Given the description of an element on the screen output the (x, y) to click on. 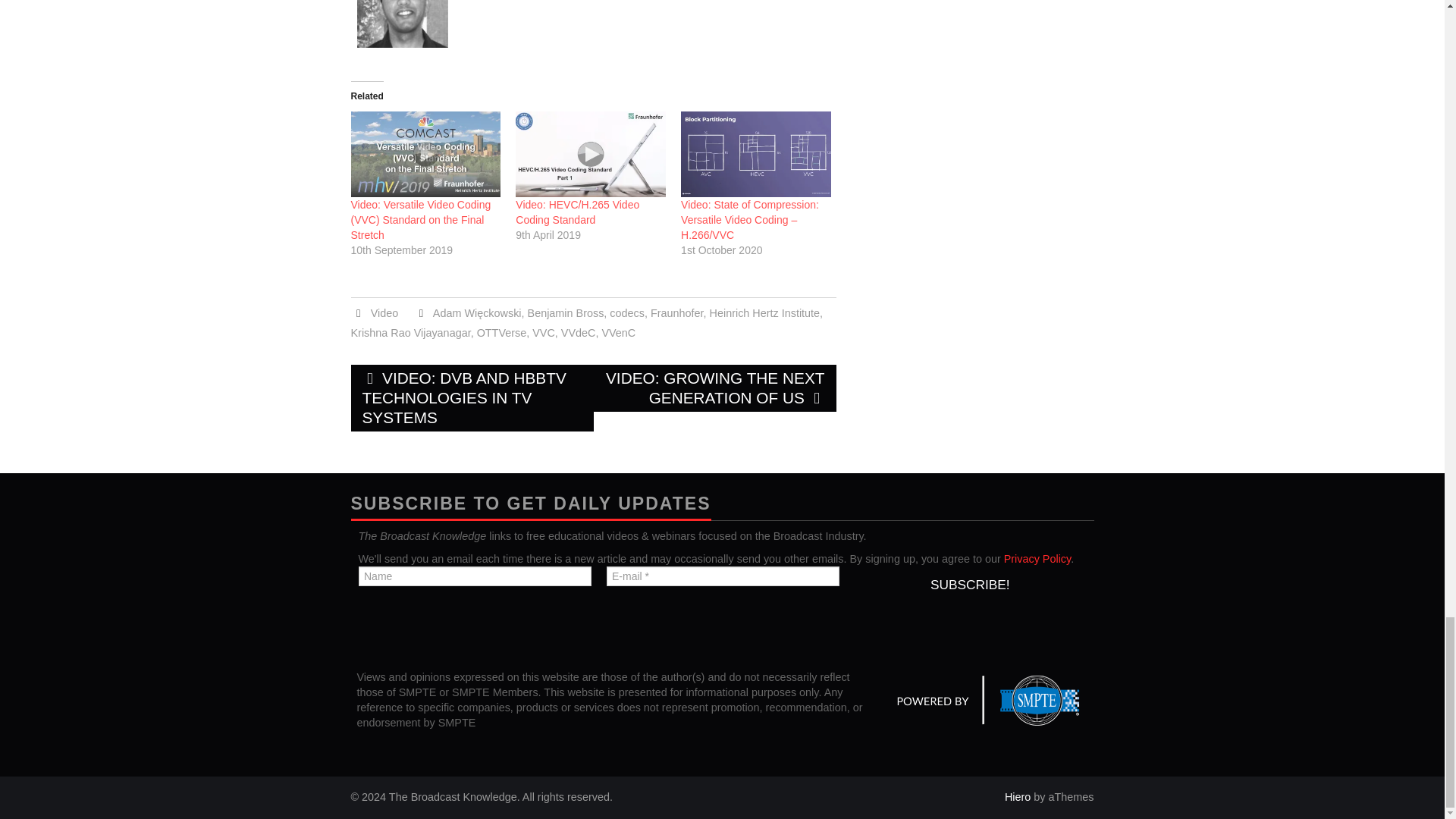
OTTVerse (502, 332)
Fraunhofer (676, 313)
Benjamin Bross (565, 313)
Krishna Rao Vijayanagar (410, 332)
VIDEO: DVB AND HBBTV TECHNOLOGIES IN TV SYSTEMS (471, 397)
Heinrich Hertz Institute (765, 313)
VVC (543, 332)
Video (384, 313)
VVenC (617, 332)
VVdeC (577, 332)
codecs (627, 313)
Subscribe! (969, 584)
